Given the description of an element on the screen output the (x, y) to click on. 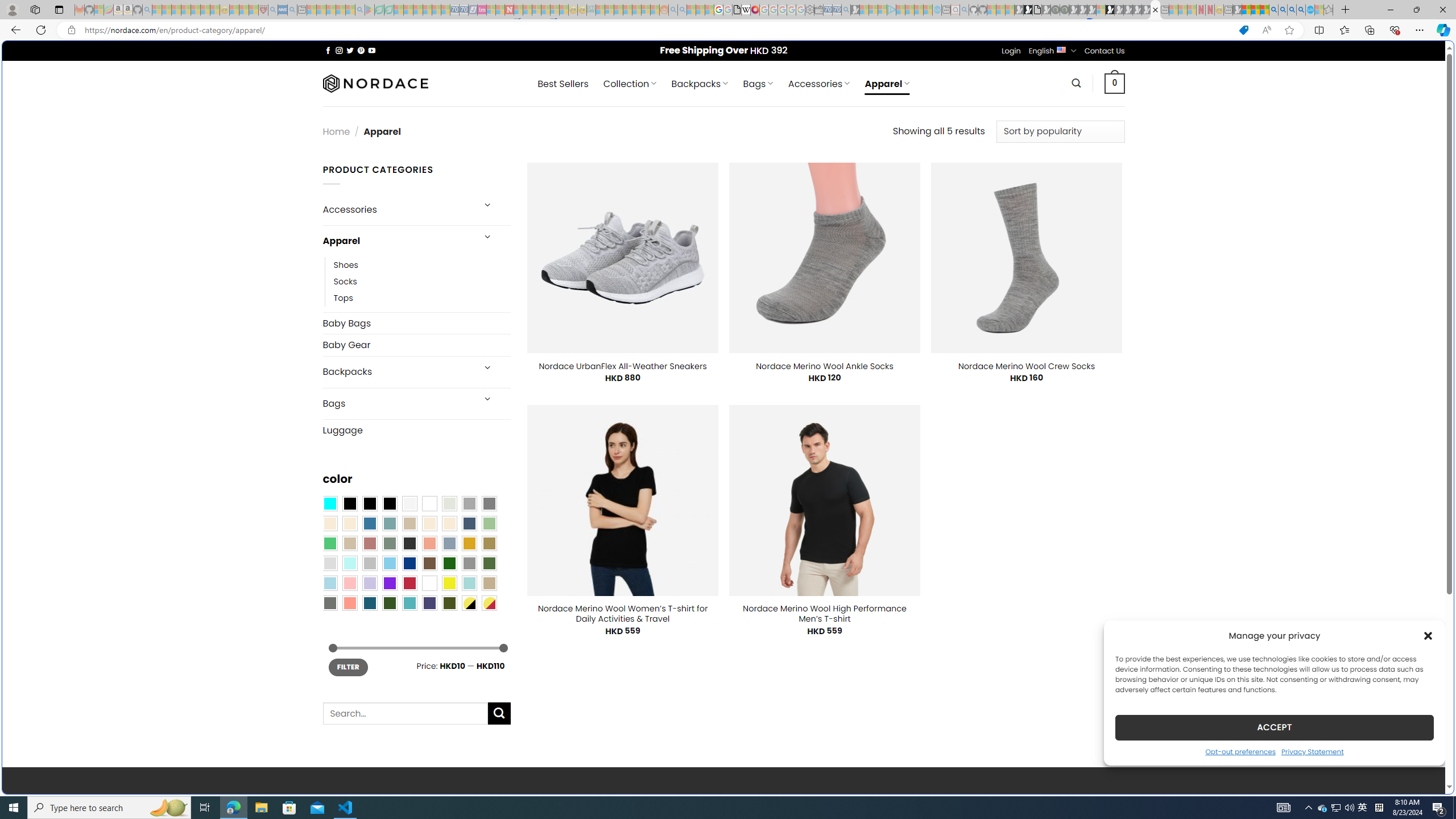
Navy Blue (408, 562)
MSNBC - MSN - Sleeping (600, 9)
All Black (349, 503)
Frequently visited (965, 151)
Shop order (1060, 131)
  Best Sellers (562, 83)
Bluey: Let's Play! - Apps on Google Play - Sleeping (369, 9)
English (1061, 49)
